Given the description of an element on the screen output the (x, y) to click on. 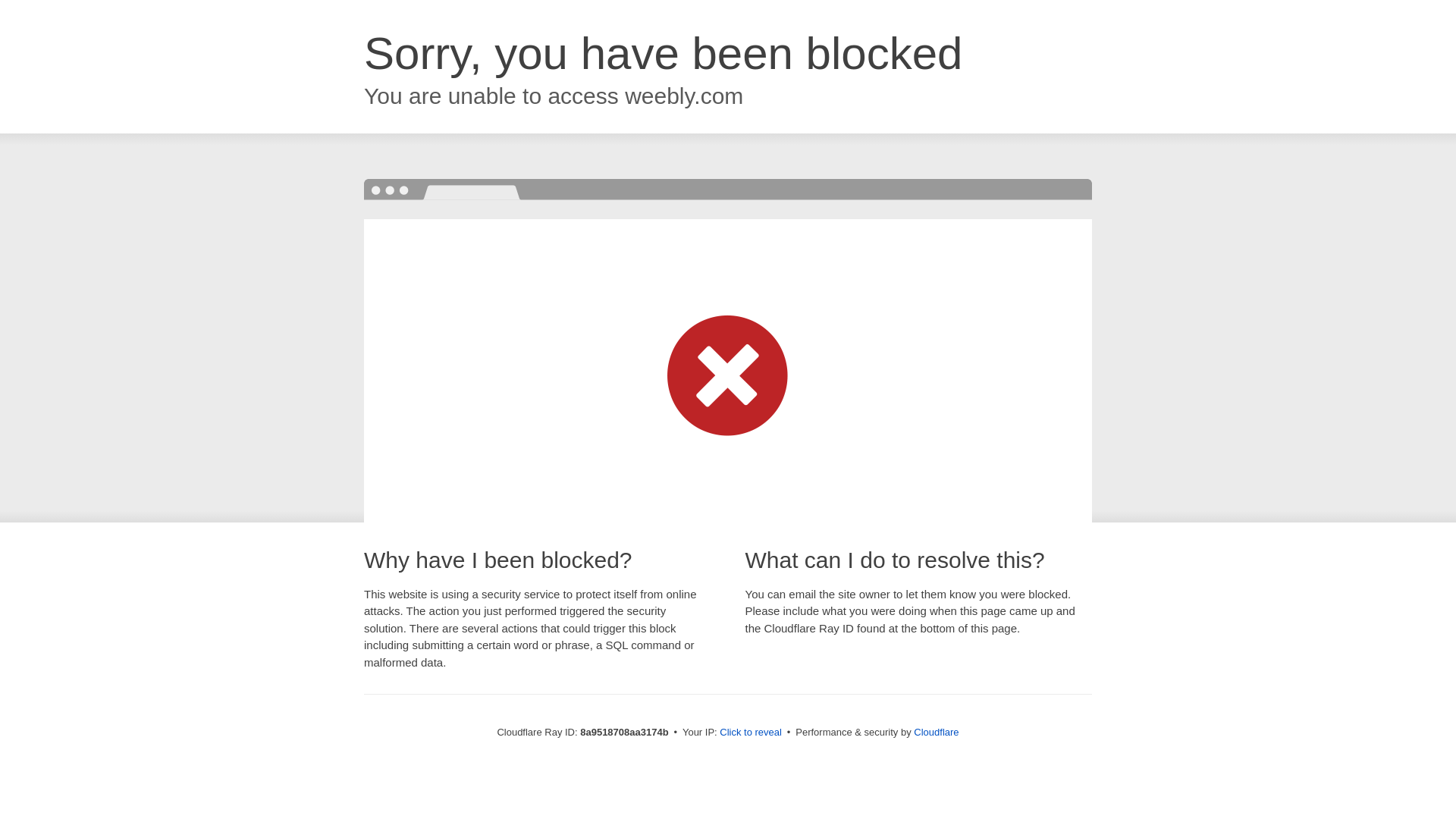
Click to reveal (750, 732)
Cloudflare (936, 731)
